Given the description of an element on the screen output the (x, y) to click on. 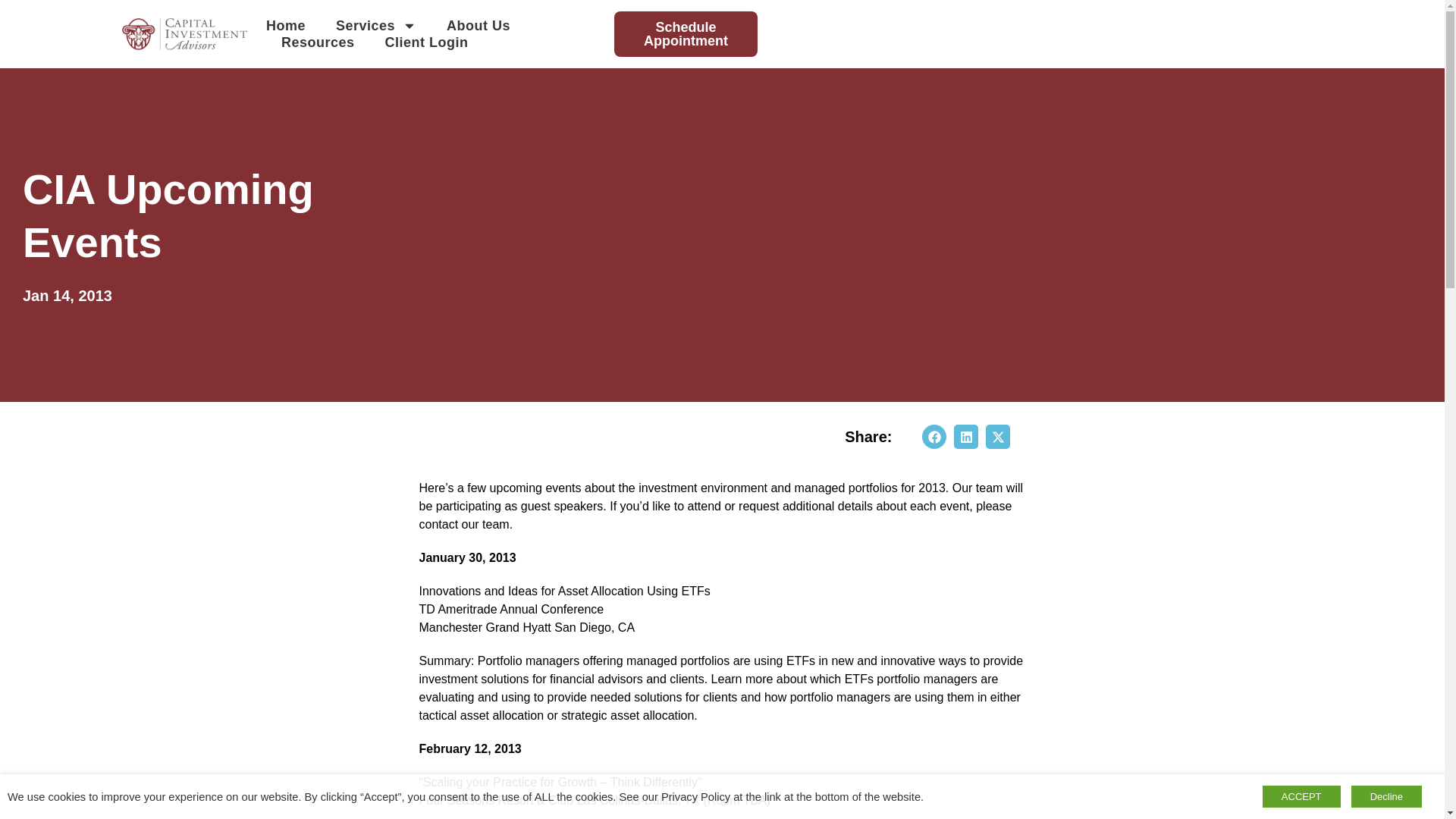
Client Login (426, 42)
About Us (478, 25)
Resources (318, 42)
Home (285, 25)
Schedule Appointment (685, 33)
Services (376, 25)
